Given the description of an element on the screen output the (x, y) to click on. 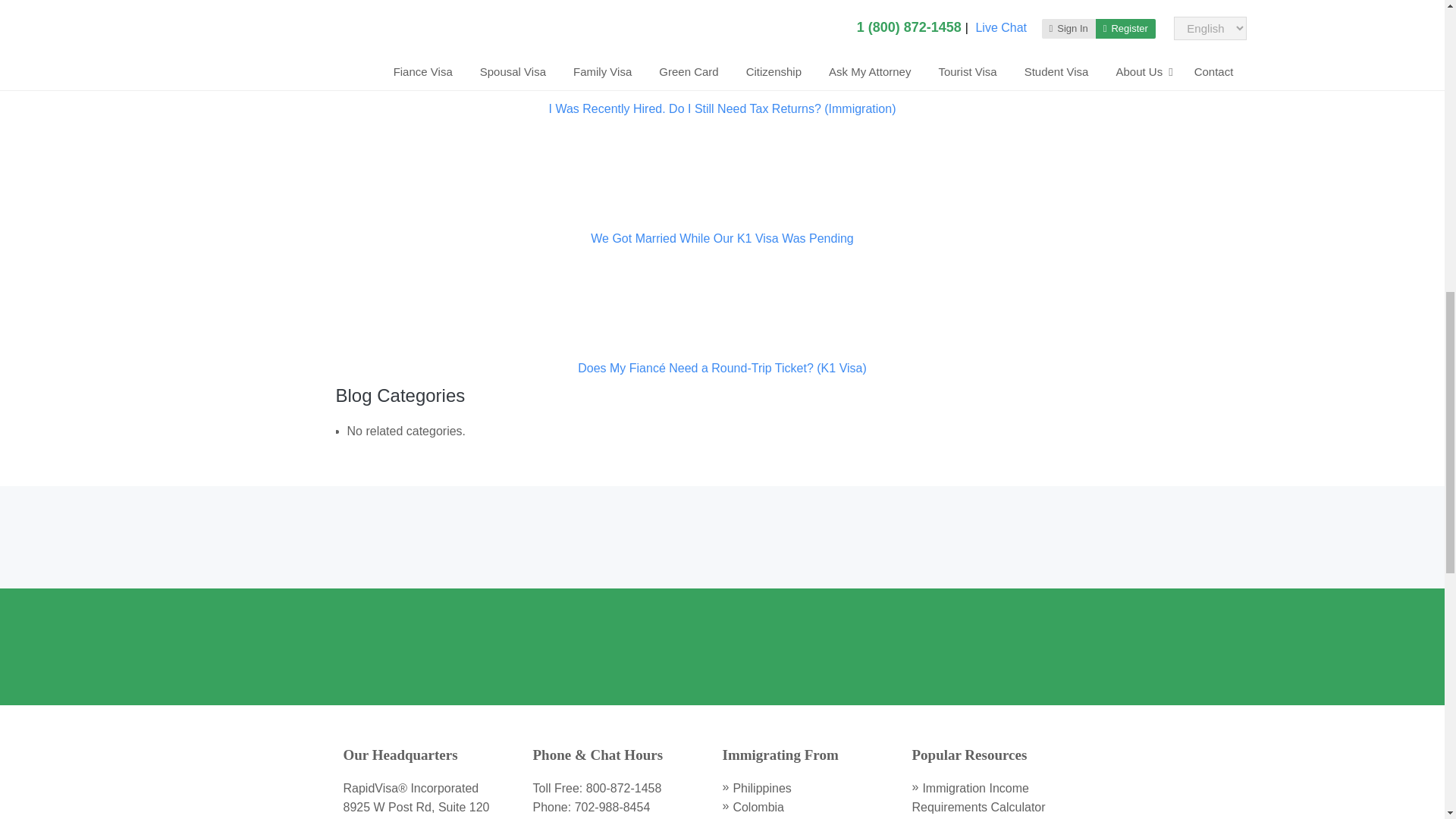
We Got Married While Our K1 Visa Was Pending (721, 219)
We Got Married While Our K1 Visa Was Pending (722, 237)
